Given the description of an element on the screen output the (x, y) to click on. 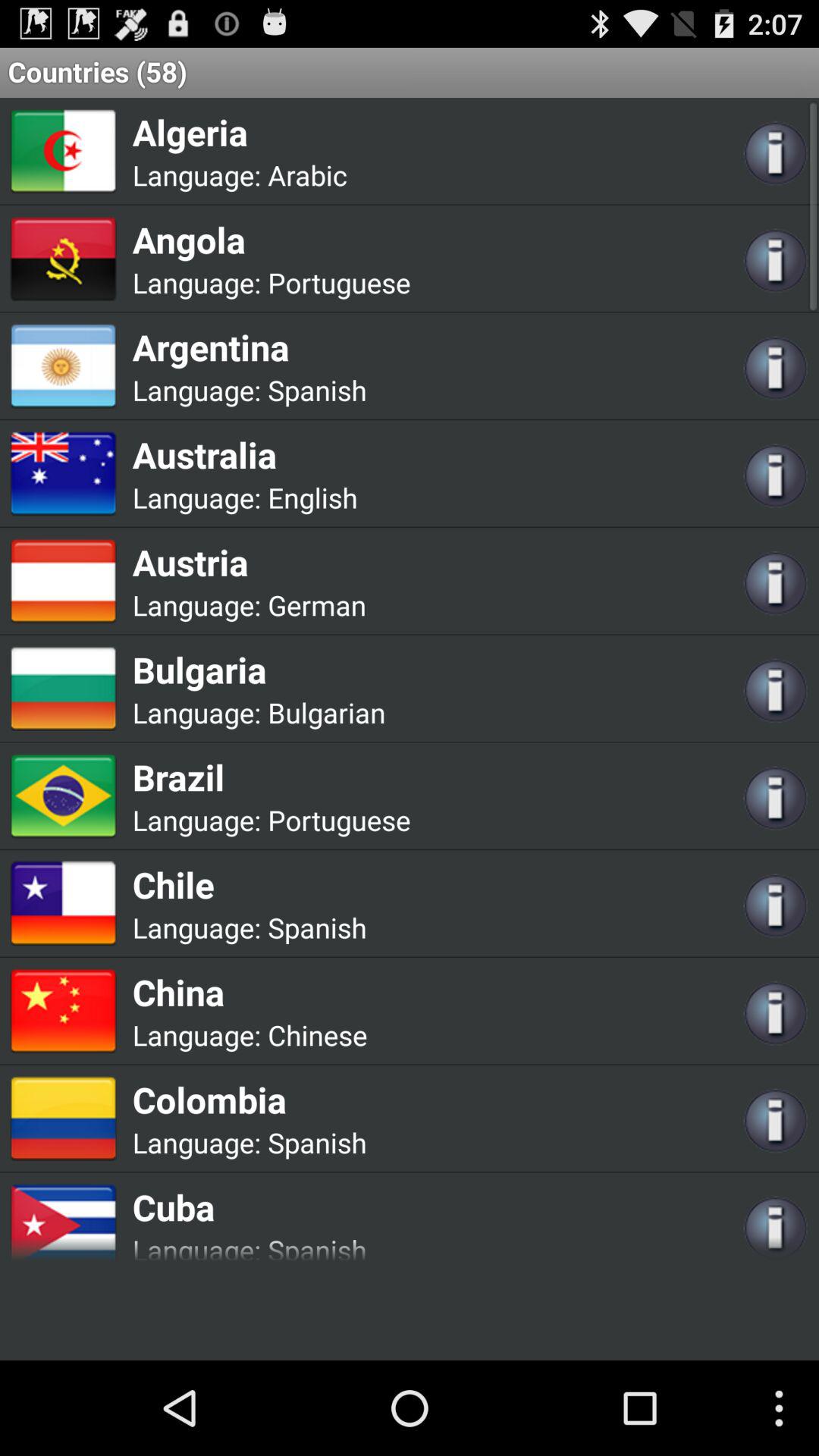
click icon above language:  app (249, 1099)
